Given the description of an element on the screen output the (x, y) to click on. 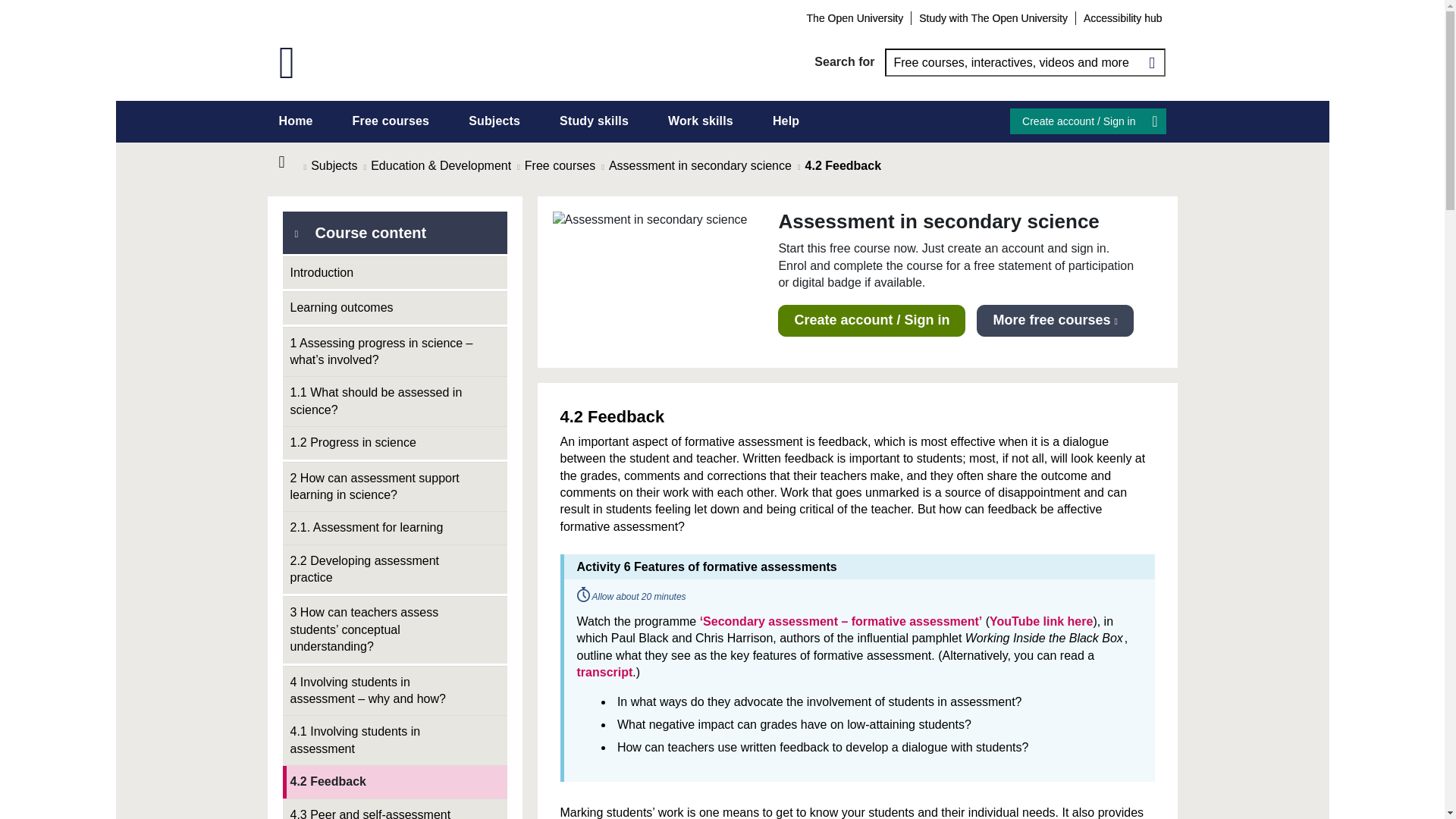
Home (296, 120)
Home (291, 162)
Study skills (593, 120)
Free courses (390, 120)
Work skills (700, 120)
Help (786, 120)
The Open University (855, 17)
Accessibility hub (1123, 17)
Search (1151, 62)
Study with The Open University (993, 17)
Subjects (493, 120)
